Given the description of an element on the screen output the (x, y) to click on. 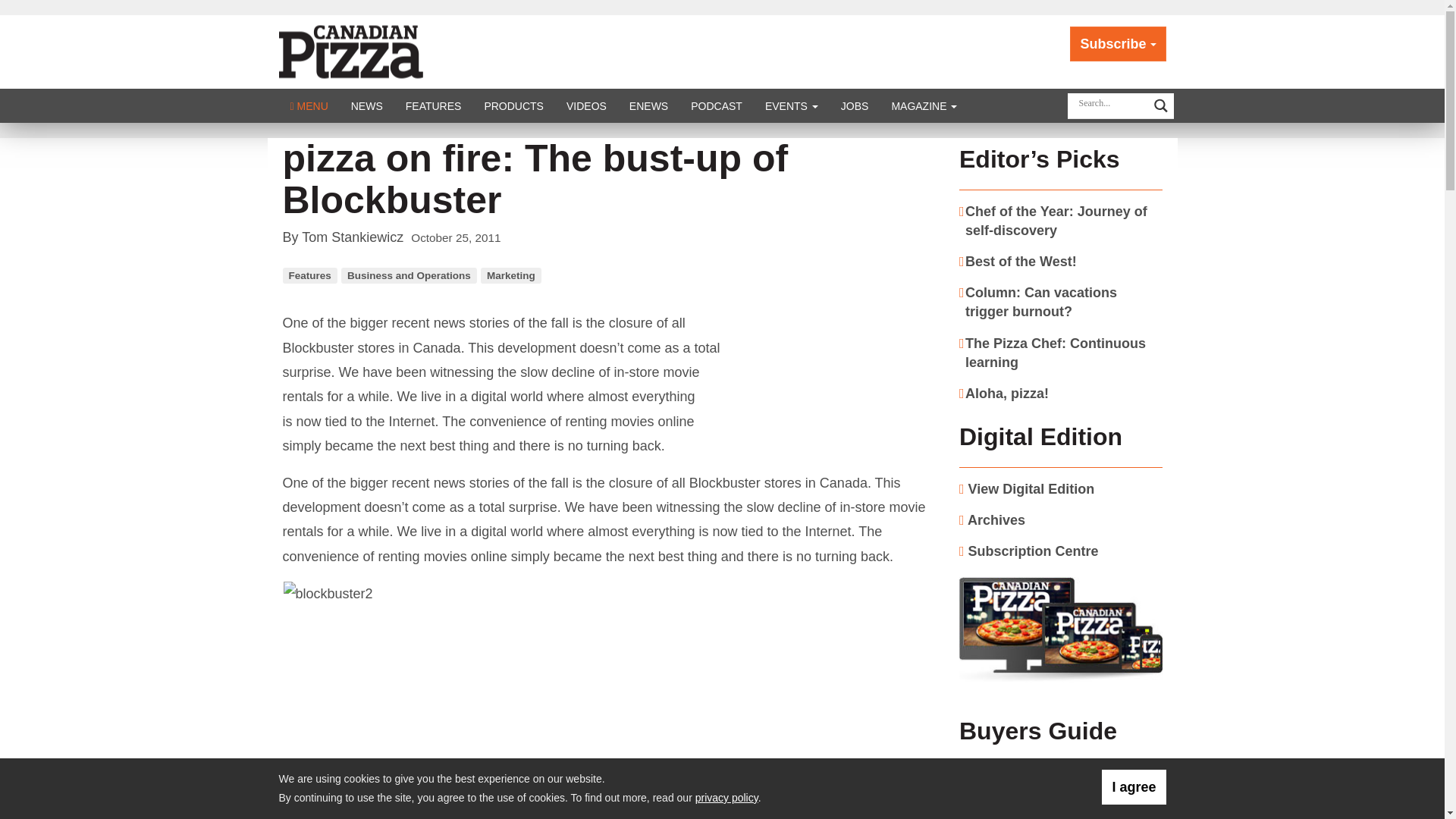
JOBS (854, 105)
FEATURES (433, 105)
Canadian Pizza Magazine (368, 50)
Subscribe (1118, 43)
blockbuster2 (434, 673)
PODCAST (716, 105)
PRODUCTS (512, 105)
Click to show site navigation (309, 105)
ENEWS (648, 105)
NEWS (366, 105)
